Given the description of an element on the screen output the (x, y) to click on. 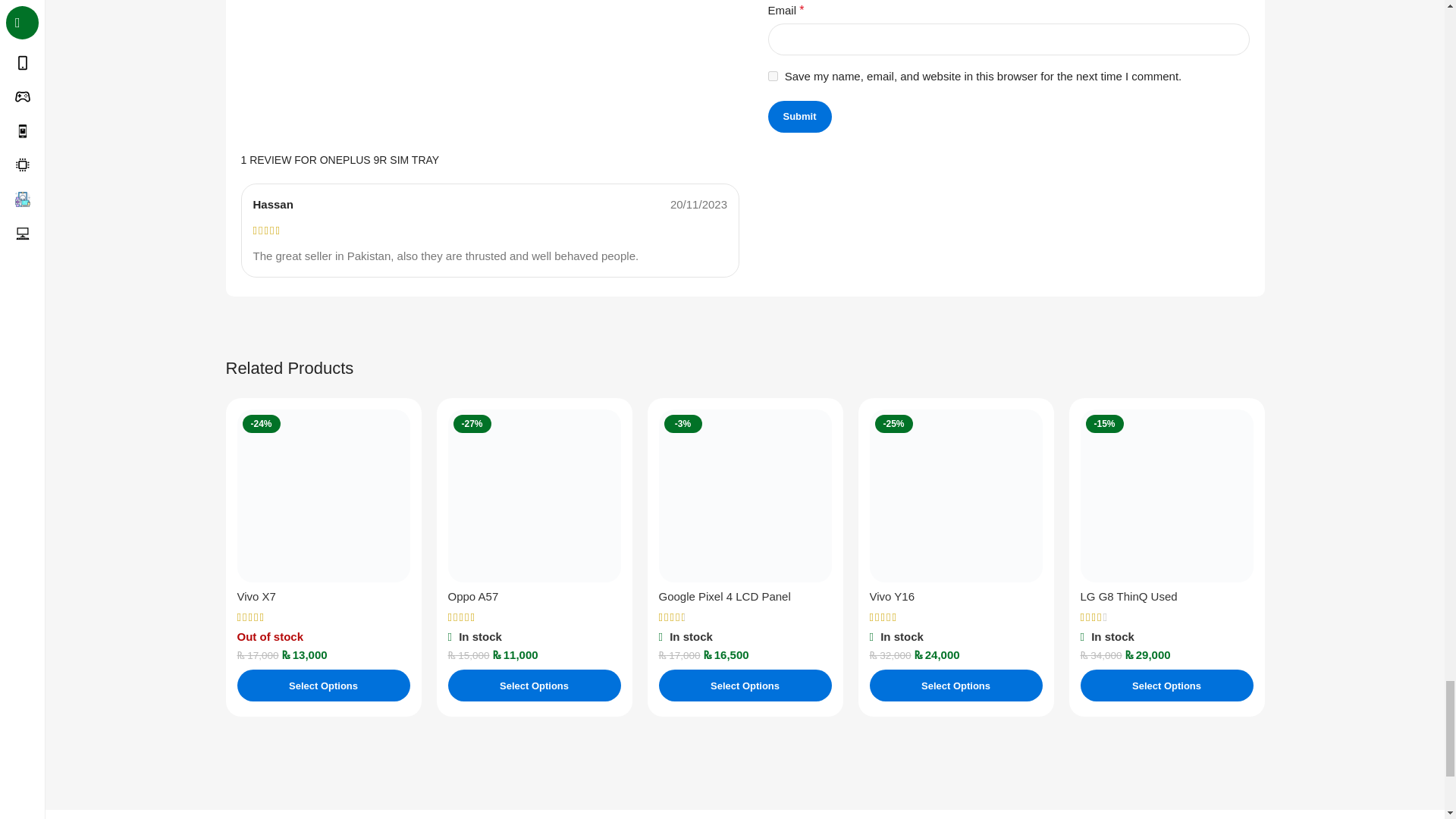
yes (772, 76)
Submit (799, 116)
